Given the description of an element on the screen output the (x, y) to click on. 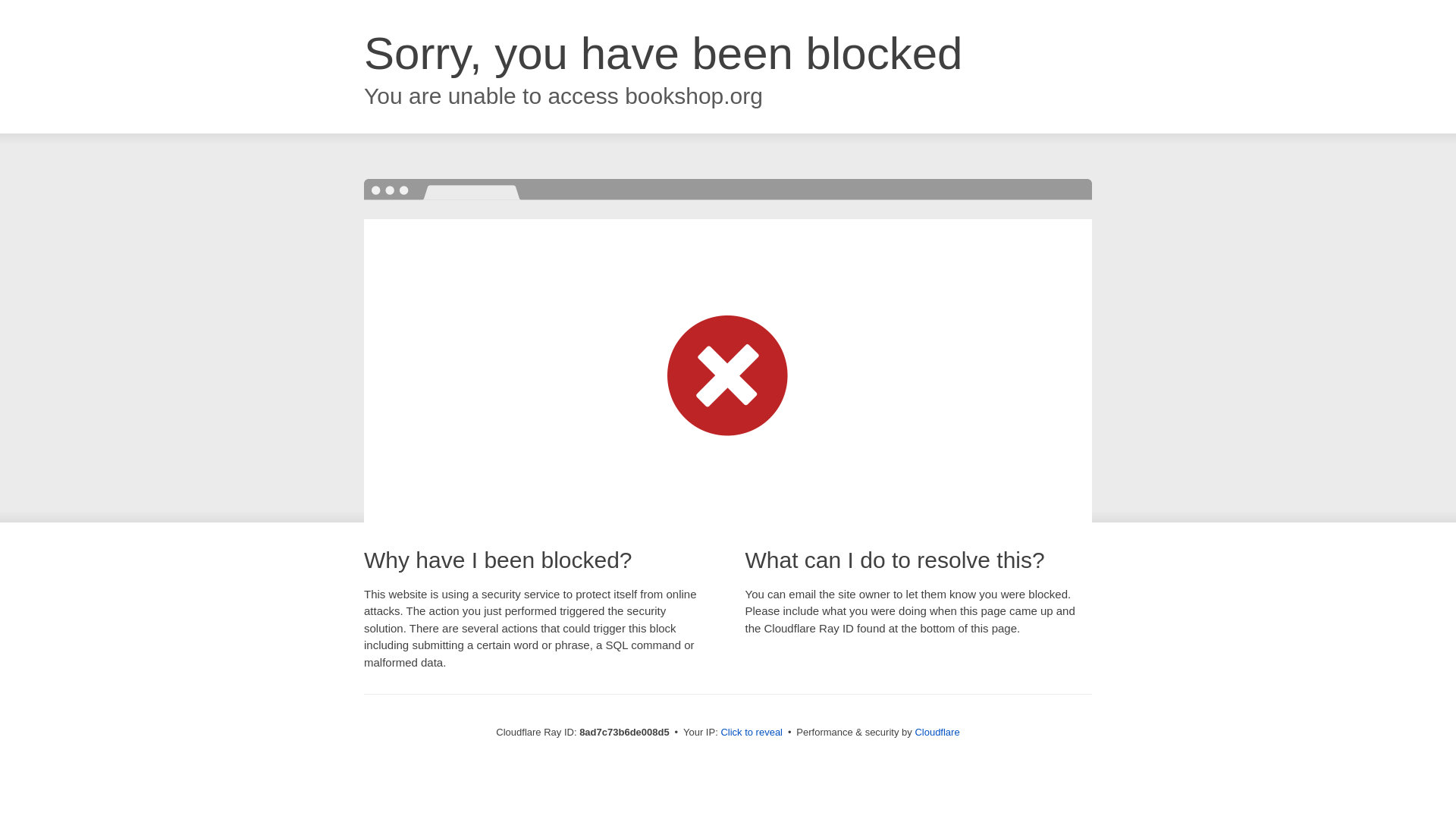
Click to reveal (751, 732)
Cloudflare (936, 731)
